Given the description of an element on the screen output the (x, y) to click on. 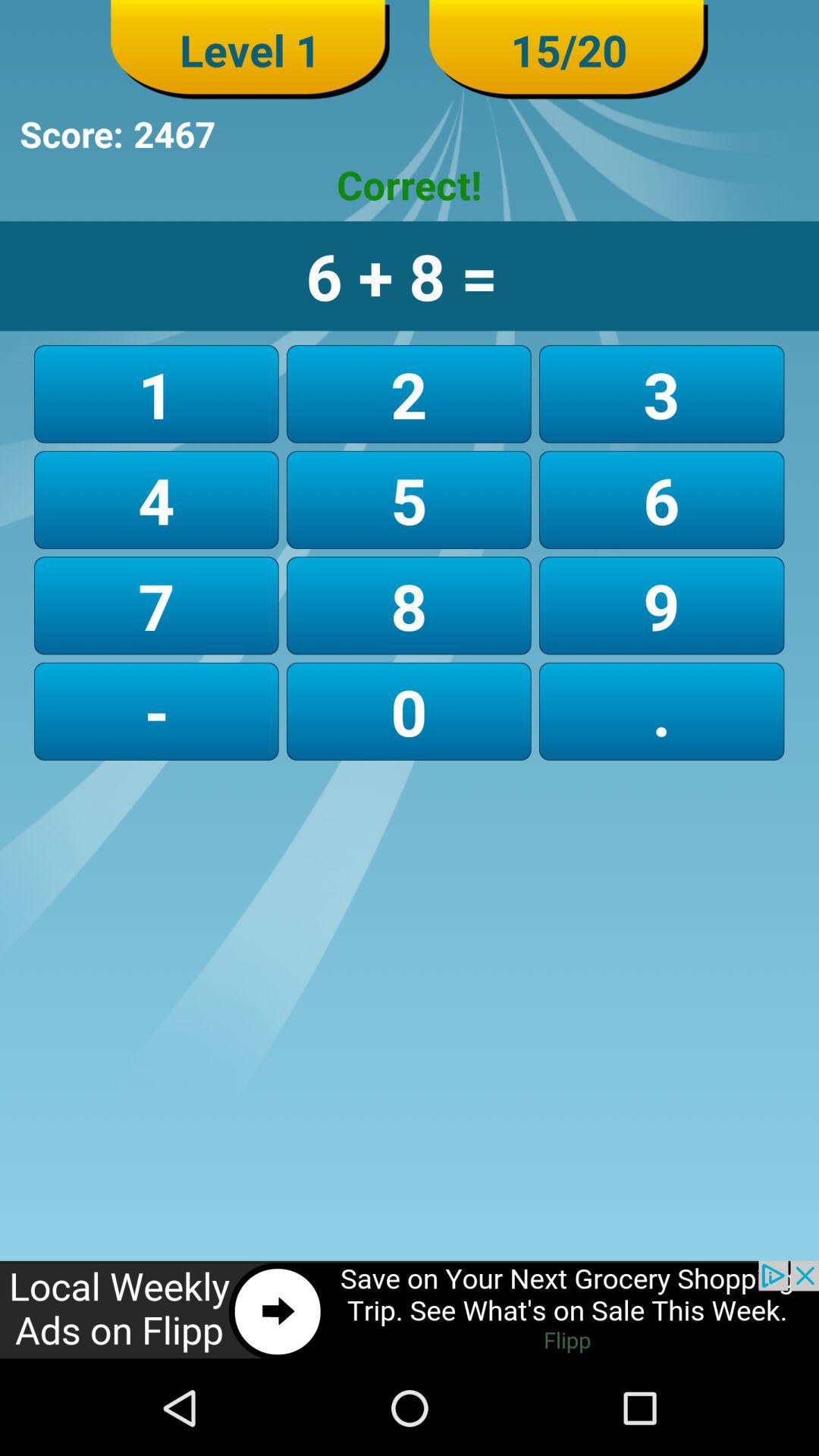
turn on the icon to the left of 2 icon (156, 499)
